Given the description of an element on the screen output the (x, y) to click on. 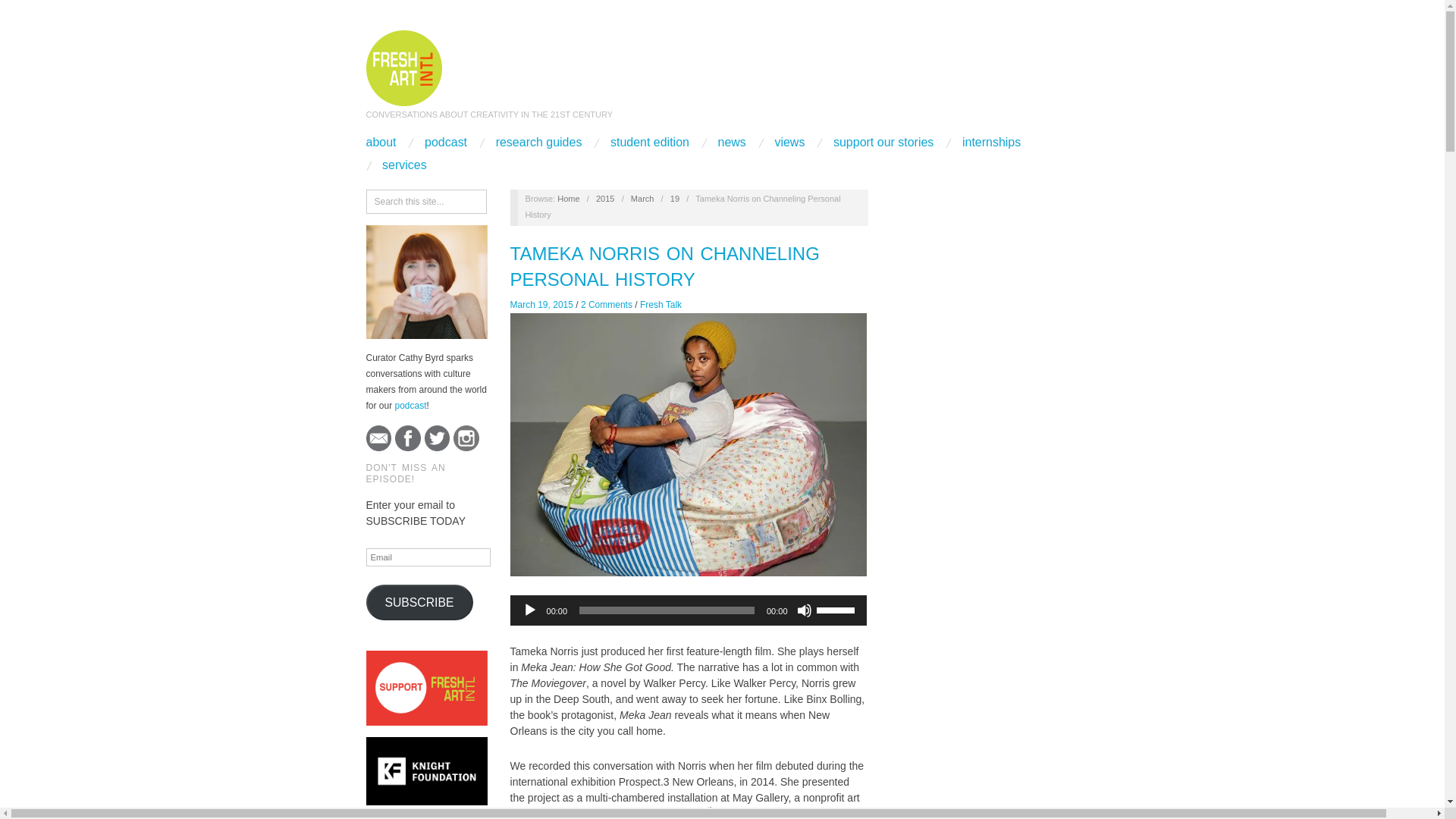
Tameka Norris on Channeling Personal History (665, 266)
19 (674, 198)
March 19, 2015 (674, 198)
Search (24, 10)
Fresh Art International (403, 65)
podcast (410, 405)
TAMEKA NORRIS ON CHANNELING PERSONAL HISTORY (665, 266)
Search this site... (425, 201)
student edition (649, 142)
internships (991, 142)
